Given the description of an element on the screen output the (x, y) to click on. 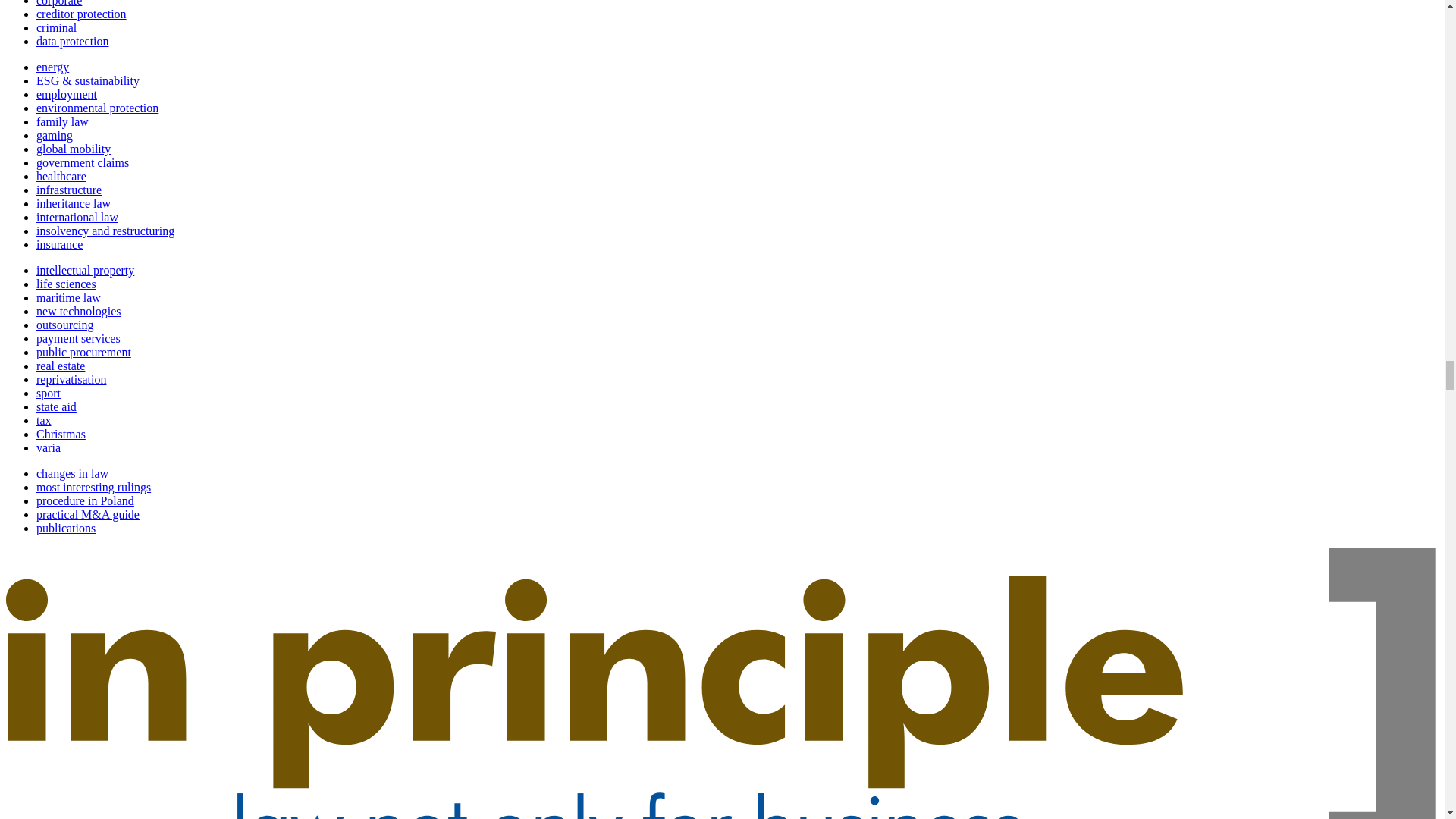
data protection (72, 41)
insolvency and restructuring (105, 230)
inheritance law (73, 203)
creditor protection (81, 13)
employment (66, 93)
environmental protection (97, 107)
energy (52, 66)
gaming (54, 134)
insurance (59, 244)
infrastructure (68, 189)
healthcare (60, 175)
international law (76, 216)
corporate (58, 3)
family law (62, 121)
intellectual property (84, 269)
